Given the description of an element on the screen output the (x, y) to click on. 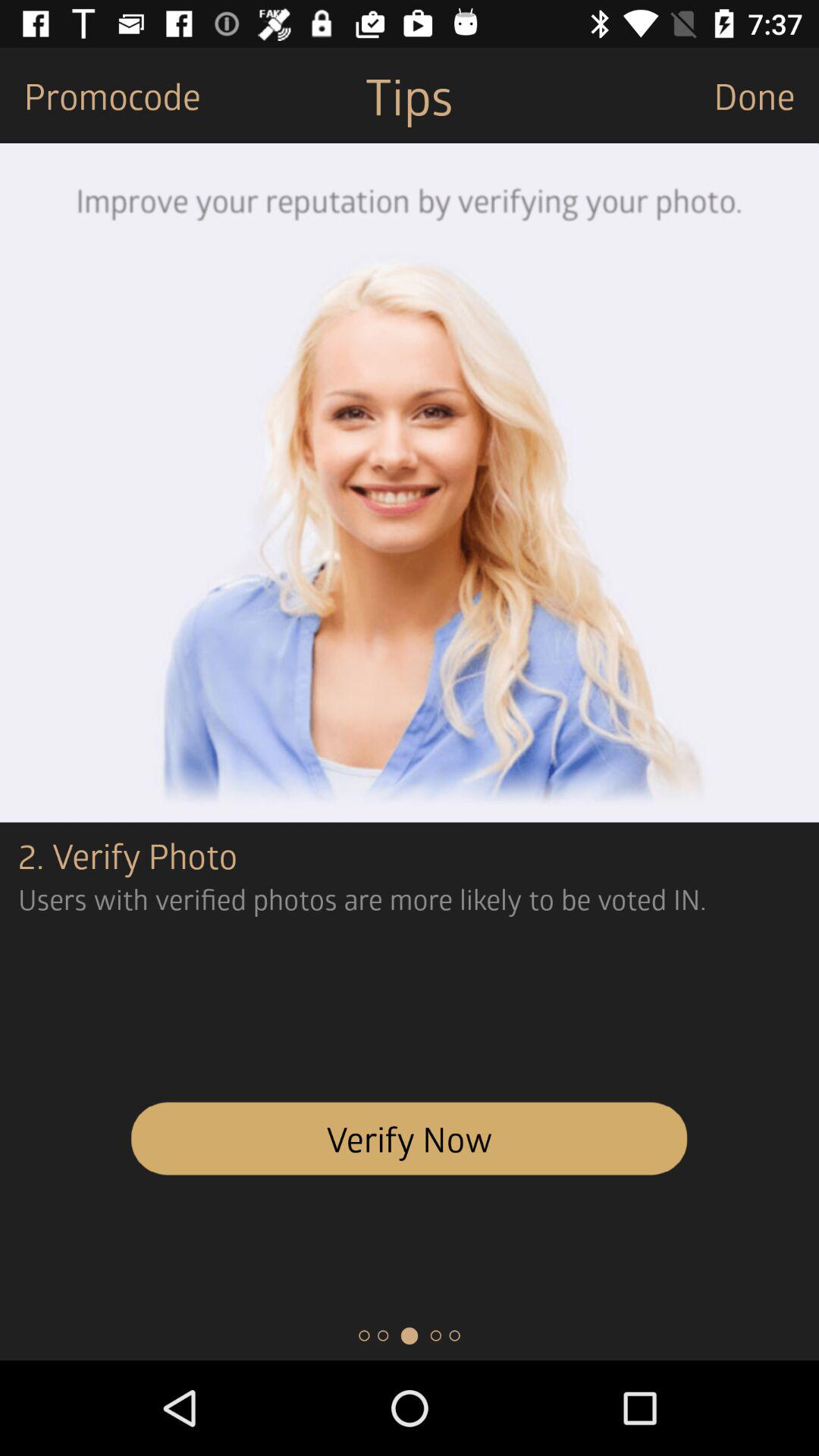
select icon next to promocode item (409, 95)
